Given the description of an element on the screen output the (x, y) to click on. 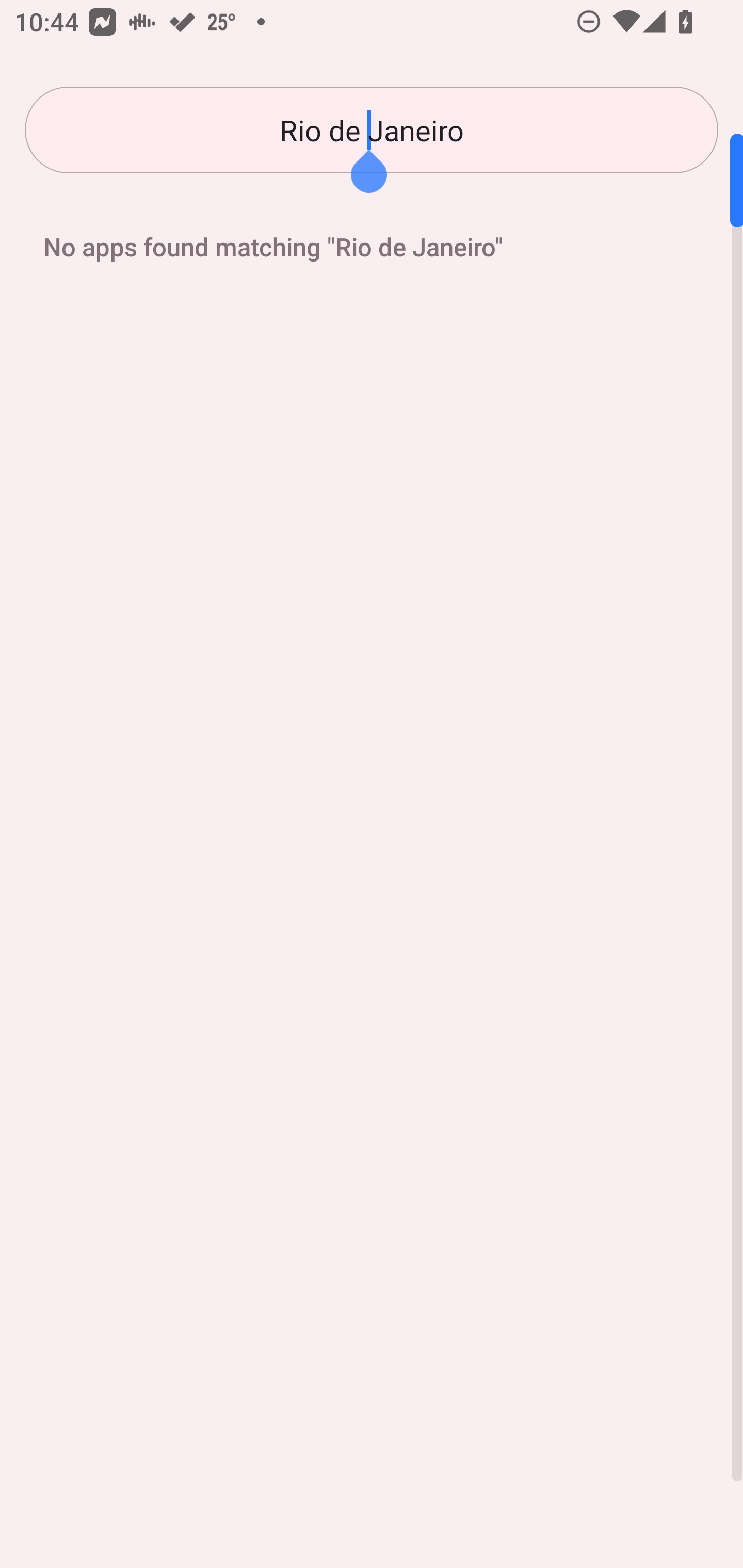
Rio de Janeiro (371, 130)
